Given the description of an element on the screen output the (x, y) to click on. 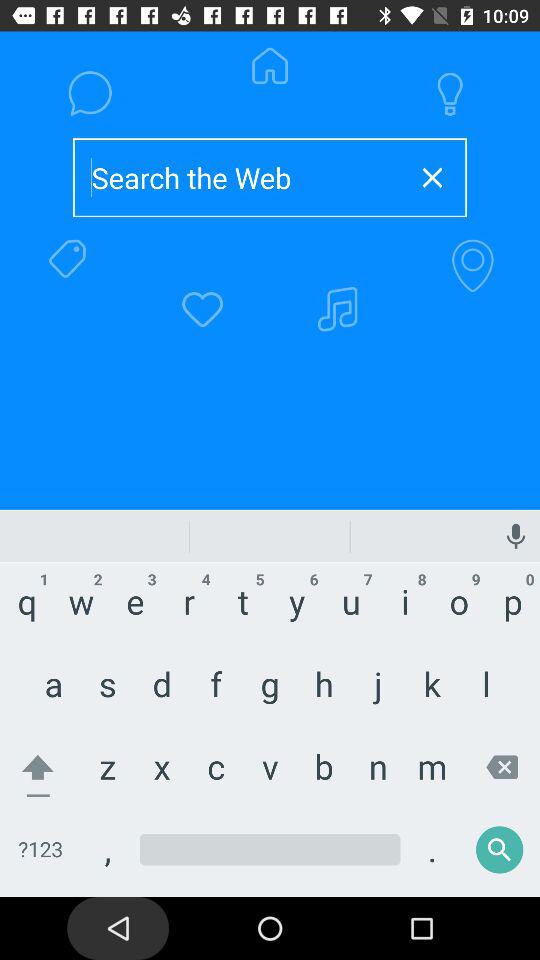
type to search (238, 177)
